Given the description of an element on the screen output the (x, y) to click on. 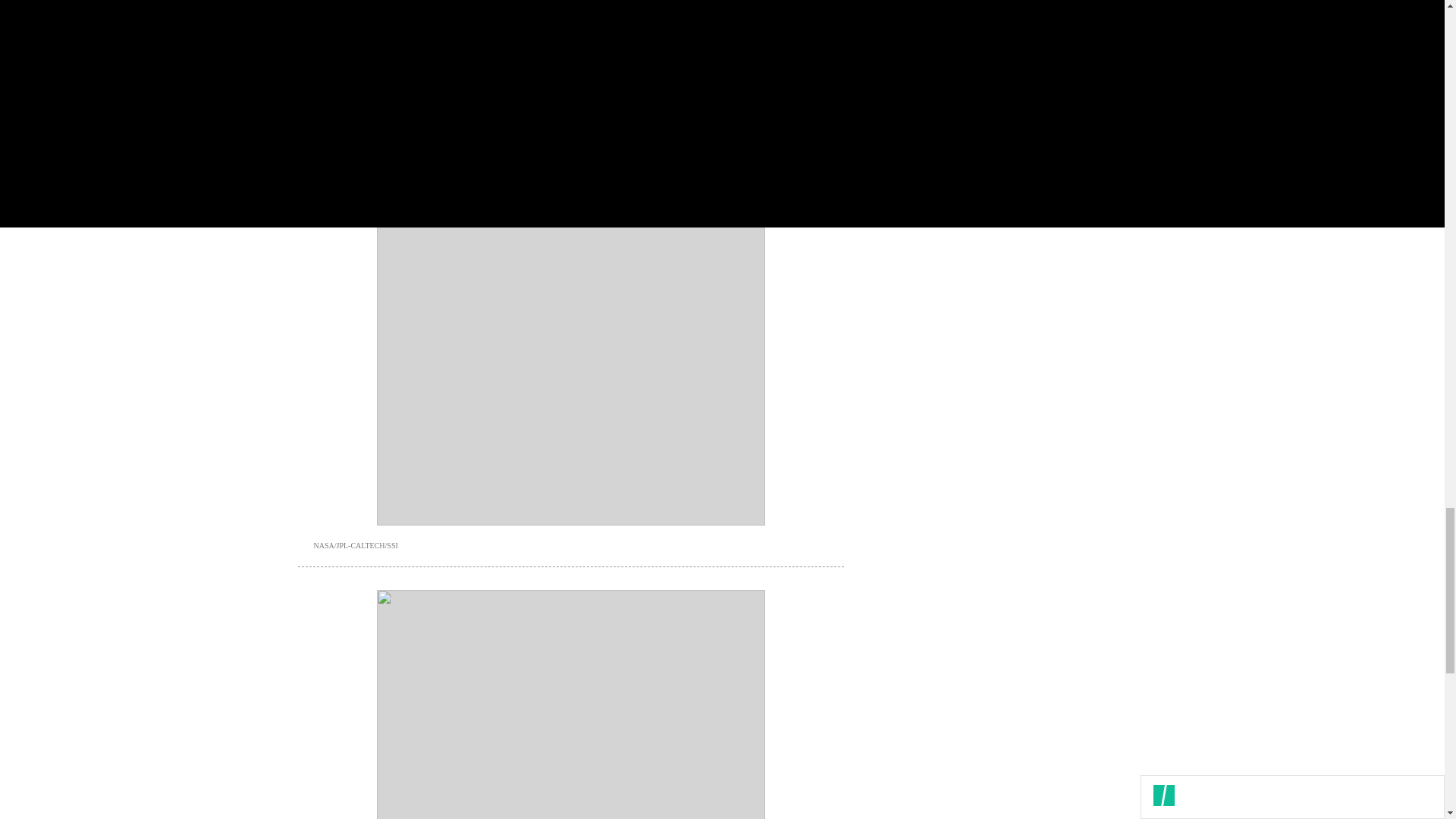
SIGN UP (1098, 125)
